Given the description of an element on the screen output the (x, y) to click on. 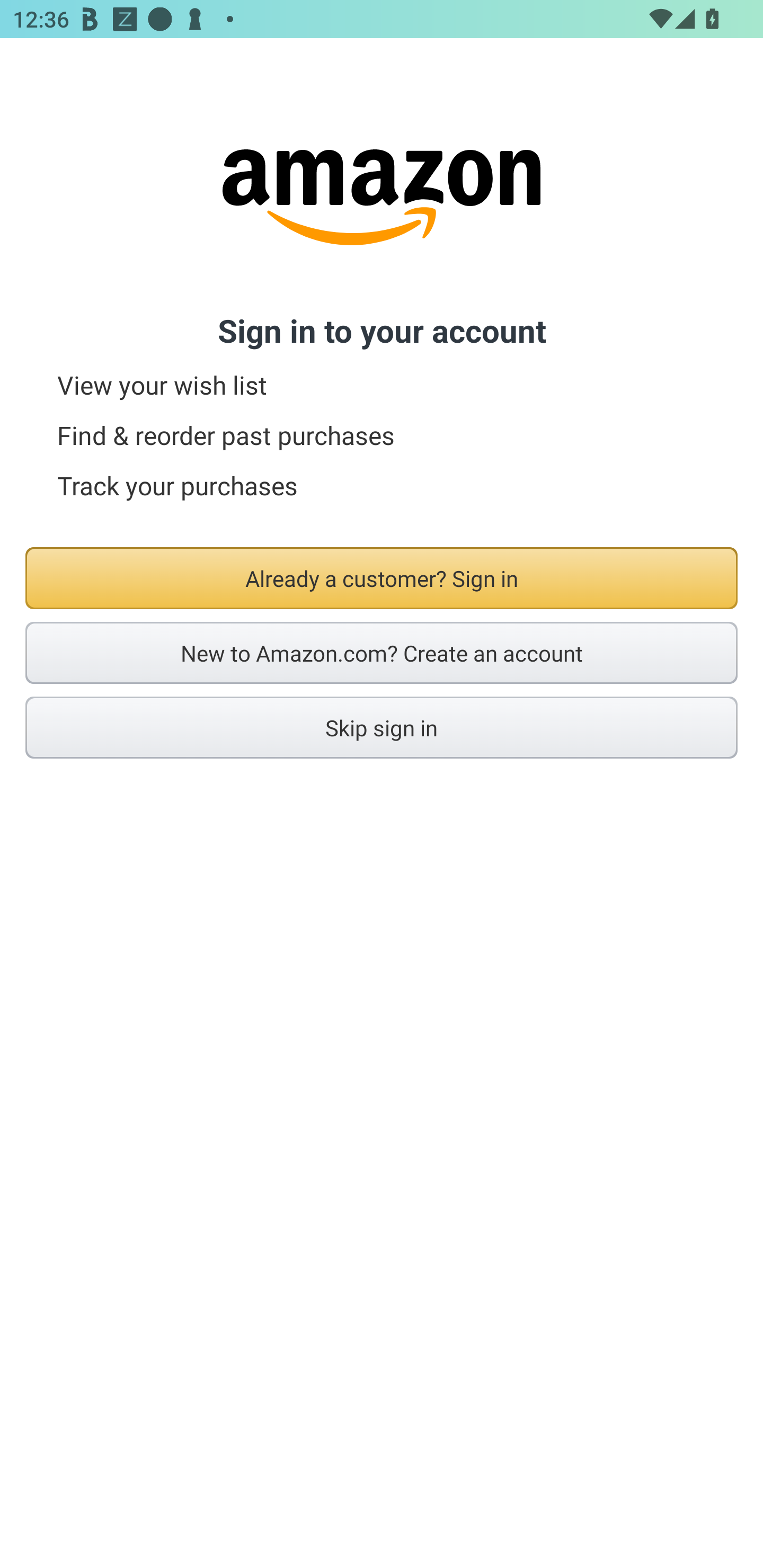
Already a customer? Sign in (381, 578)
New to Amazon.com? Create an account (381, 652)
Skip sign in (381, 727)
